Given the description of an element on the screen output the (x, y) to click on. 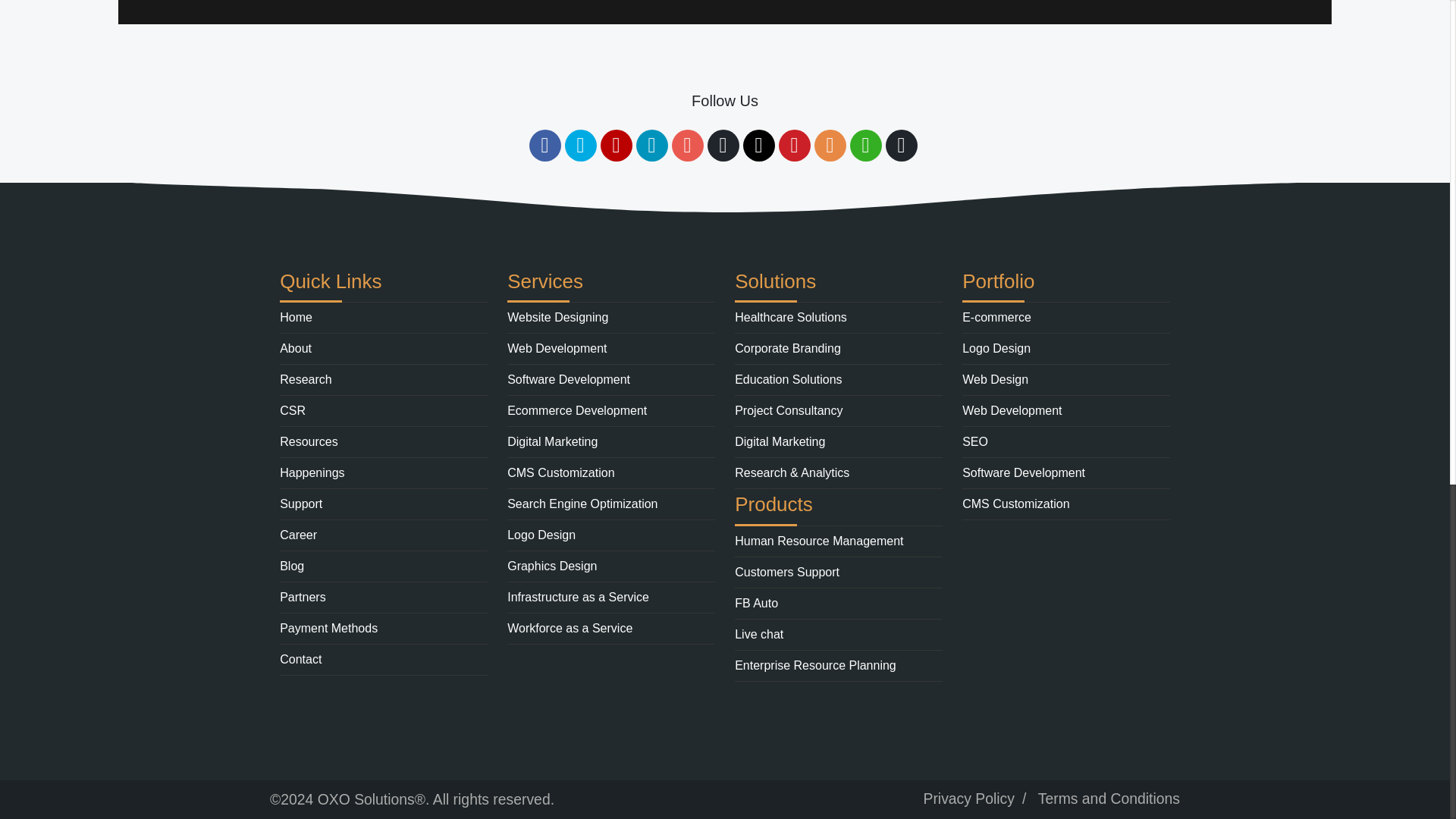
YouTube (615, 145)
Instagram (687, 145)
Twitter (579, 145)
LinkedIn (650, 145)
Facebook (544, 145)
